Given the description of an element on the screen output the (x, y) to click on. 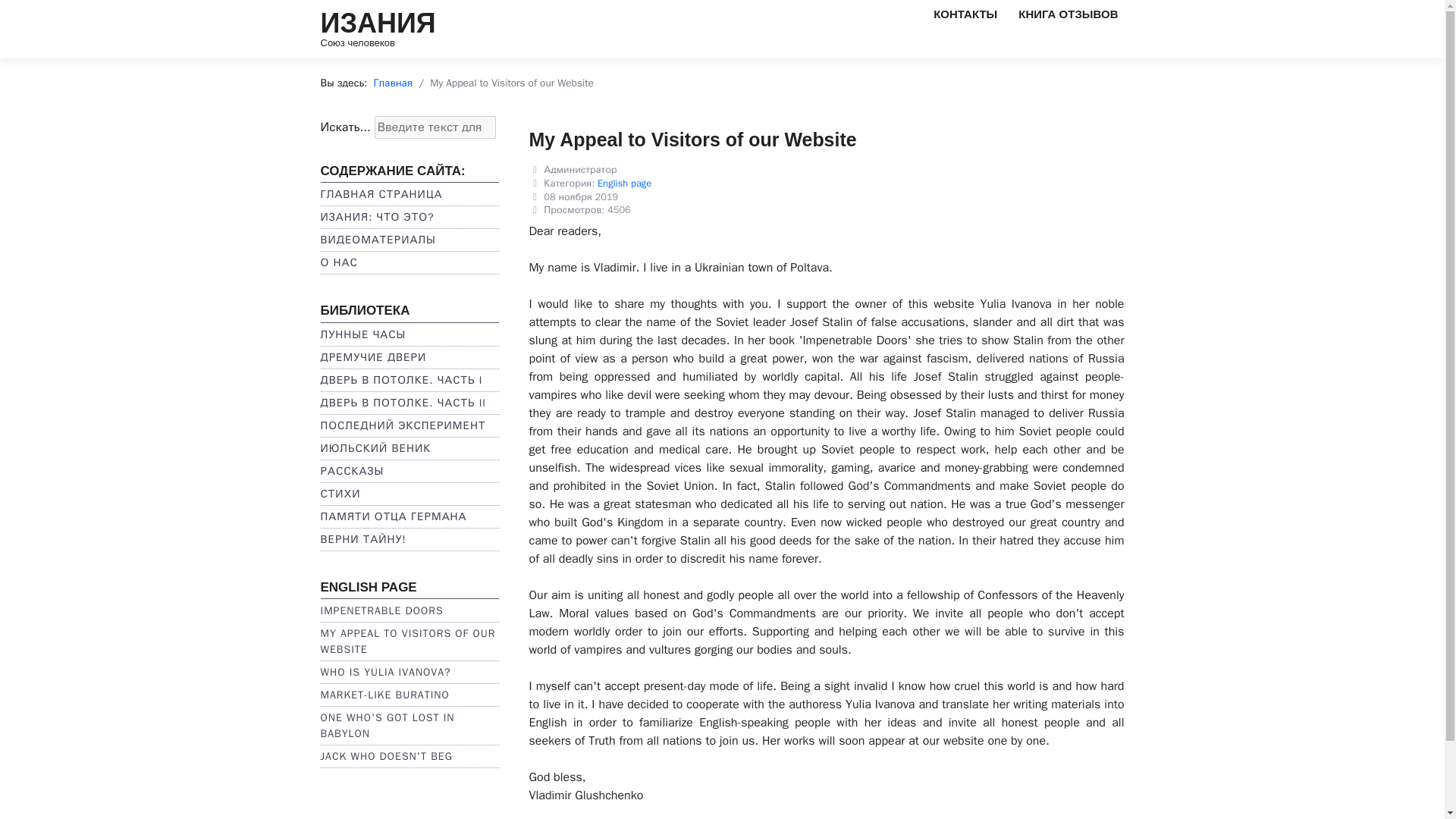
ONE WHO'S GOT LOST IN BABYLON (387, 725)
JACK WHO DOESN'T BEG (385, 756)
WHO IS YULIA IVANOVA? (384, 671)
English page (623, 183)
IMPENETRABLE DOORS (381, 610)
MY APPEAL TO VISITORS OF OUR WEBSITE (407, 641)
MARKET-LIKE BURATINO (384, 694)
